Given the description of an element on the screen output the (x, y) to click on. 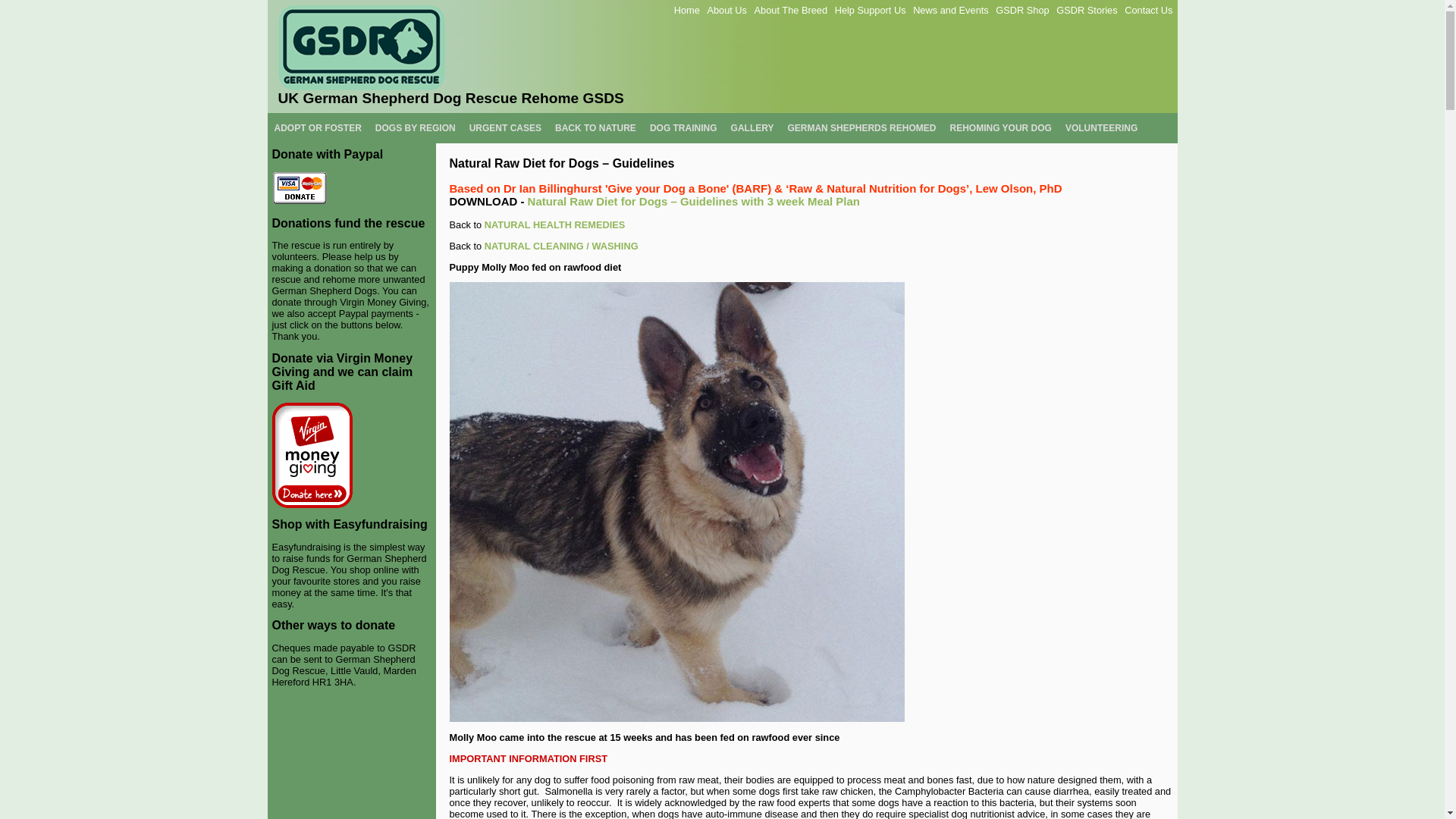
REHOMING YOUR DOG (1000, 128)
NATURAL HEALTH REMEDIES (555, 224)
Contact Us (1148, 9)
BACK TO NATURE (595, 128)
News and Events (950, 9)
VOLUNTEERING (1101, 128)
GERMAN SHEPHERDS REHOMED (861, 128)
DOGS BY REGION (415, 128)
GSDR Shop (1021, 9)
Home (687, 9)
ADOPT OR FOSTER (317, 128)
About Us (726, 9)
UK German Shepherd Dog Rescue Rehome GSDS (721, 56)
URGENT CASES (505, 128)
GALLERY (751, 128)
